Given the description of an element on the screen output the (x, y) to click on. 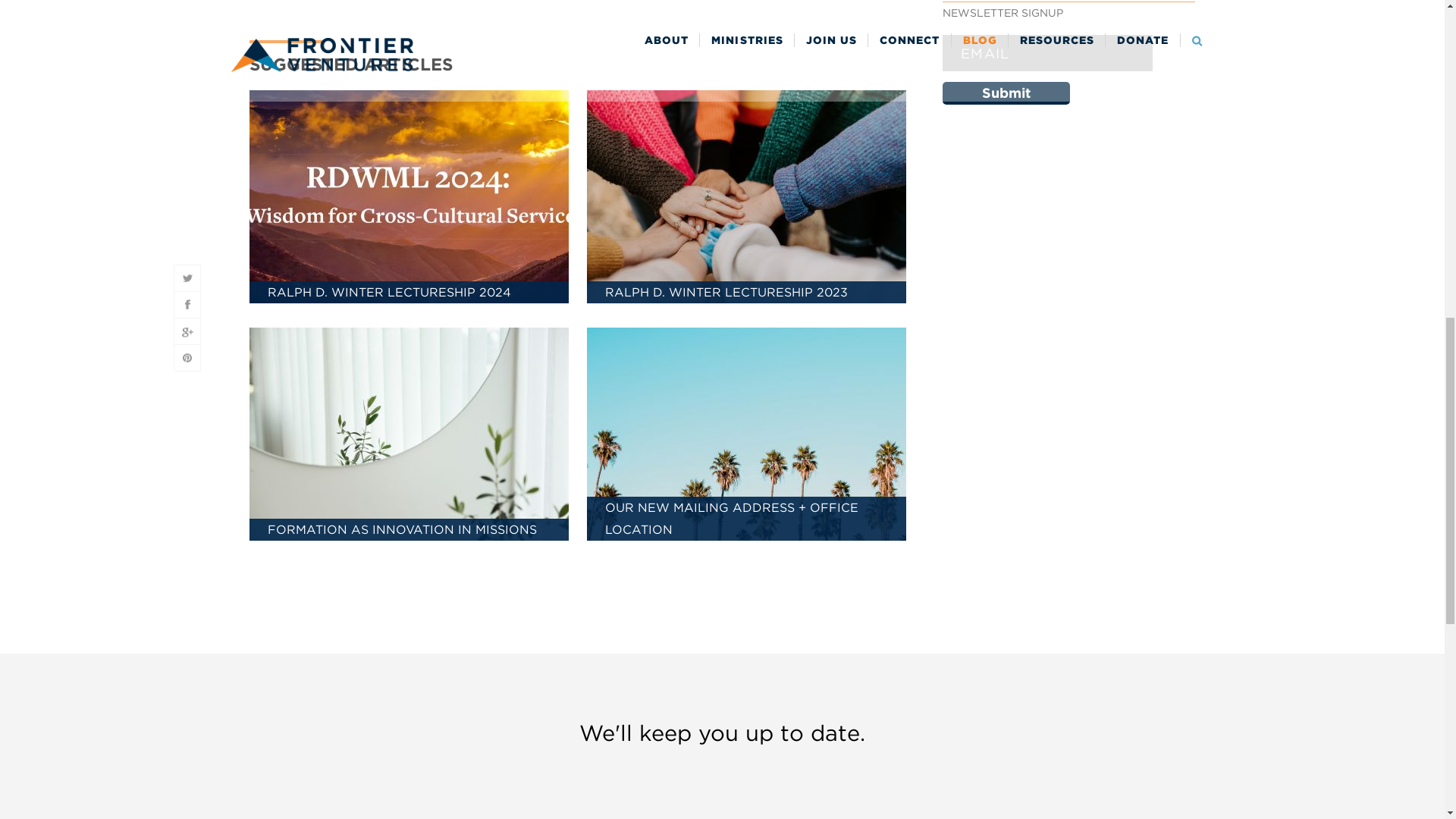
RALPH D. WINTER LECTURESHIP 2024 (407, 197)
FORMATION AS INNOVATION IN MISSIONS (407, 434)
RALPH D. WINTER LECTURESHIP 2023 (745, 197)
